Given the description of an element on the screen output the (x, y) to click on. 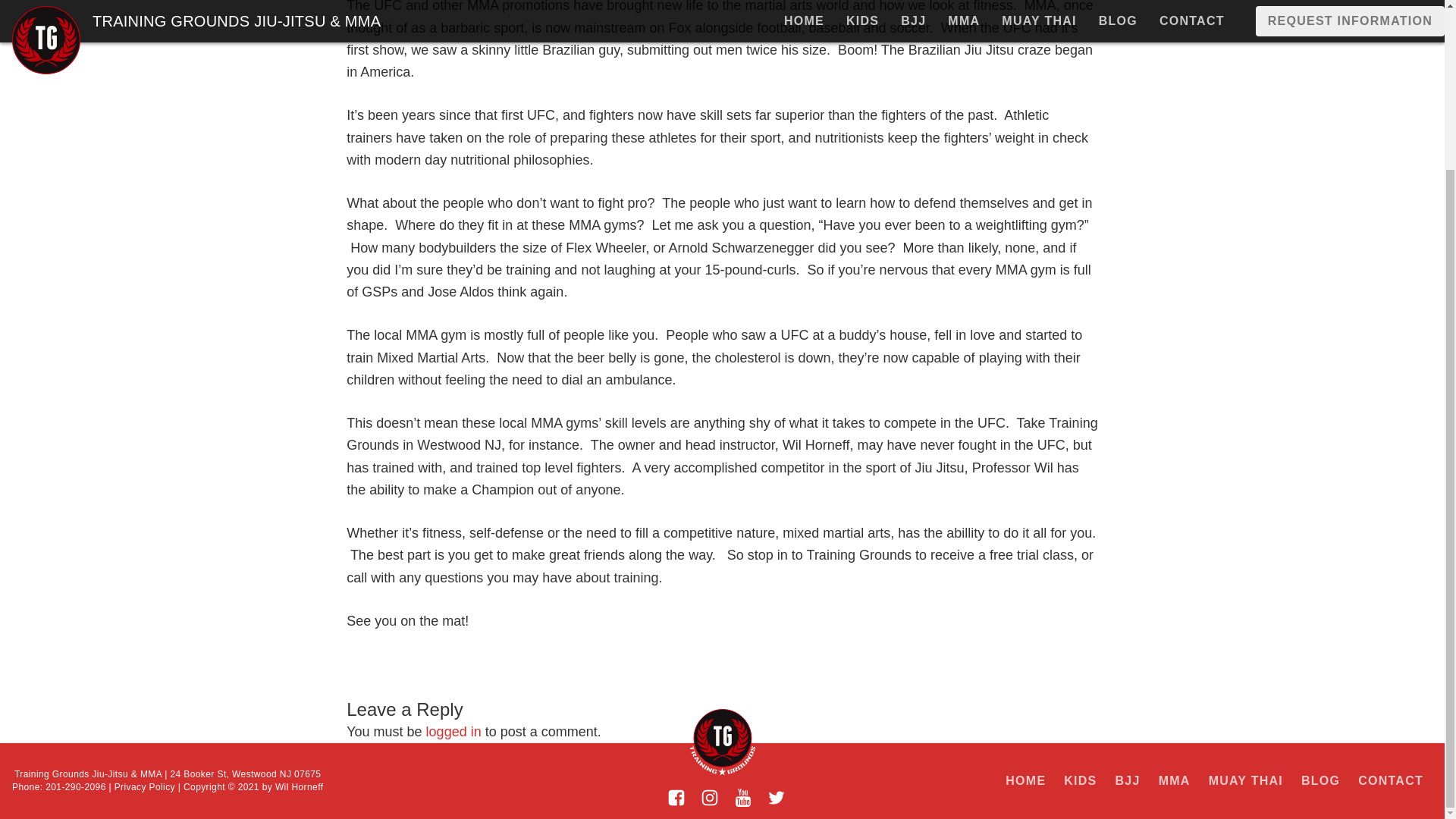
logged in (453, 731)
 Privacy Policy (143, 787)
201-290-2096 (75, 787)
